Given the description of an element on the screen output the (x, y) to click on. 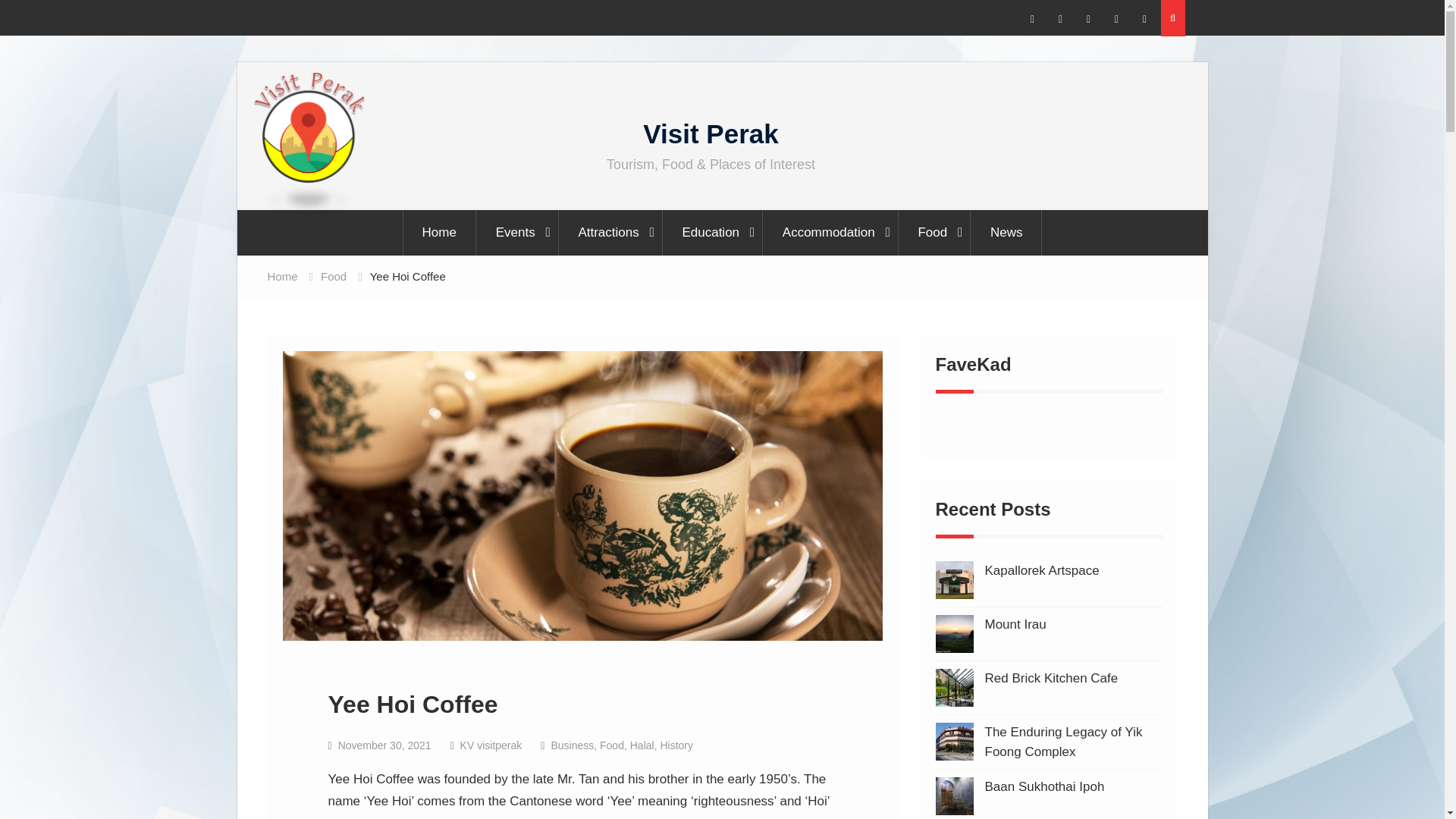
Plus Google (1144, 19)
Facebook (1032, 19)
Pinterest (1088, 19)
Twitter (1059, 19)
YouTube (1115, 19)
